Given the description of an element on the screen output the (x, y) to click on. 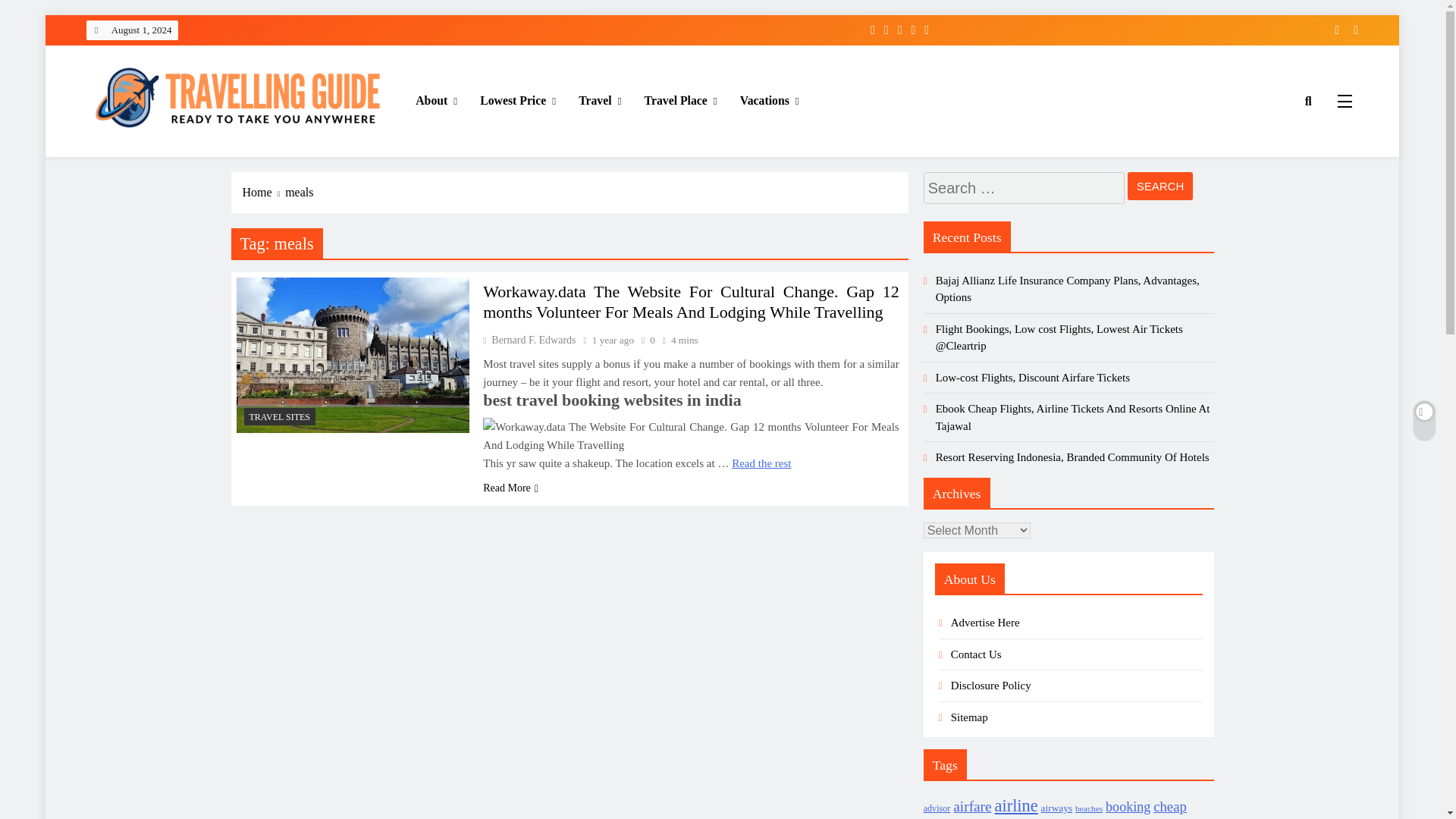
Vacations (769, 101)
Travel Place (681, 101)
About (436, 101)
Search (1159, 185)
Search (1159, 185)
Lowest Price (517, 101)
Travel (599, 101)
Travelling Guide (170, 158)
